Given the description of an element on the screen output the (x, y) to click on. 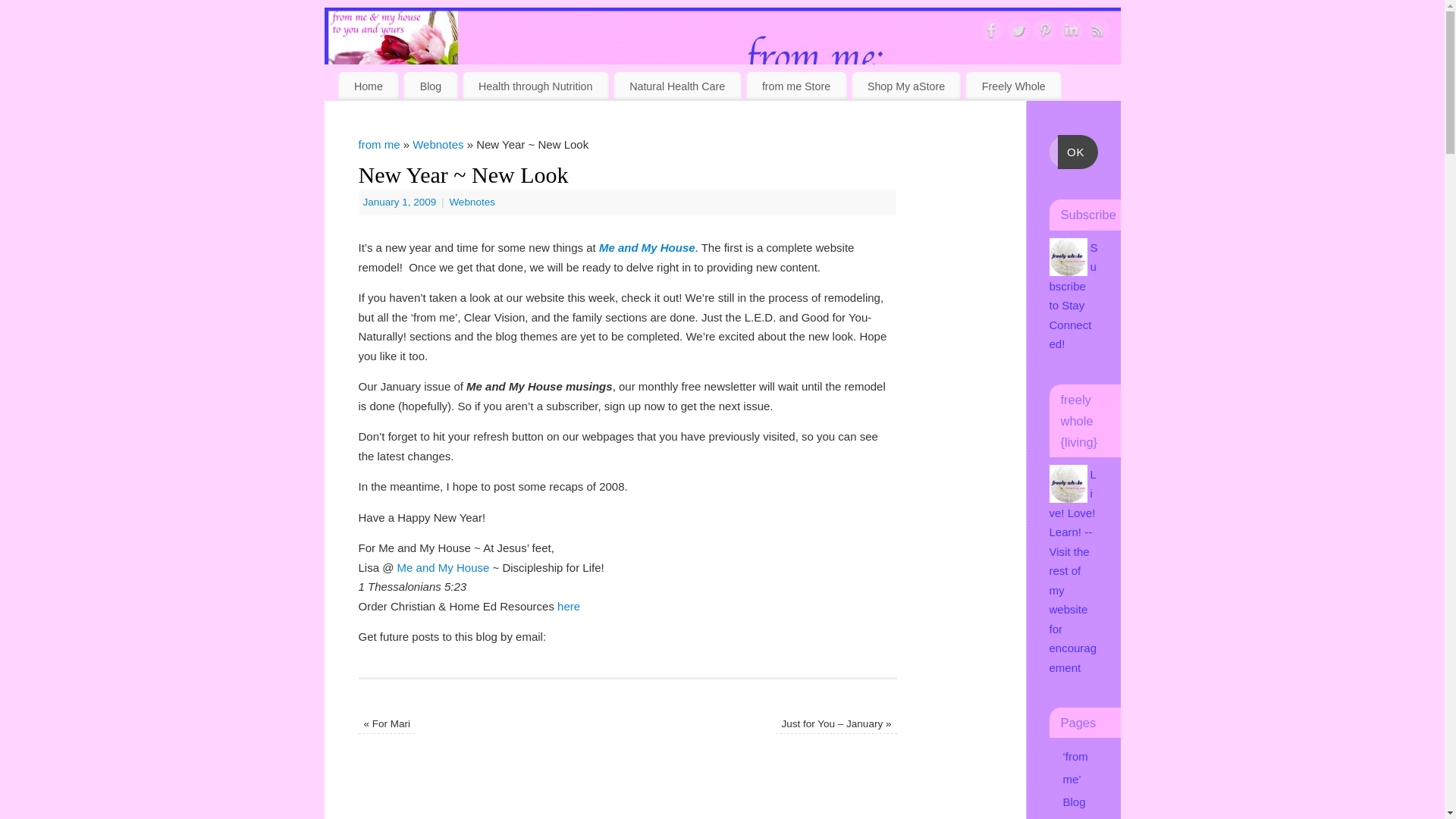
Webnotes (471, 202)
Me and My House (443, 567)
Blog (430, 86)
Freely Whole (1013, 86)
Natural Health Care (676, 86)
OK (1077, 151)
from me (378, 144)
here (568, 605)
Shop My aStore (905, 86)
Health through Nutrition (535, 86)
